Given the description of an element on the screen output the (x, y) to click on. 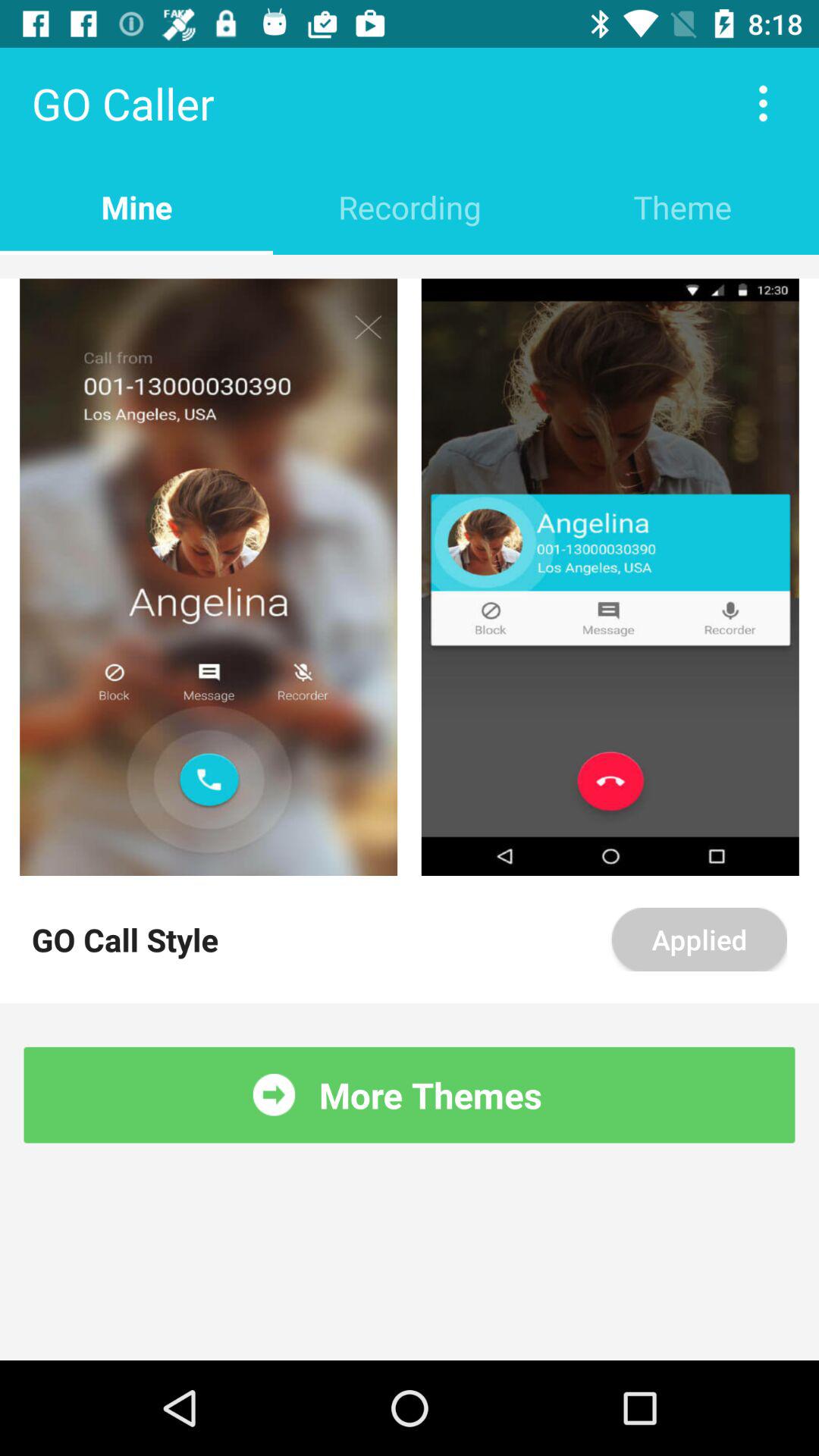
choose item to the right of the go caller item (763, 103)
